Given the description of an element on the screen output the (x, y) to click on. 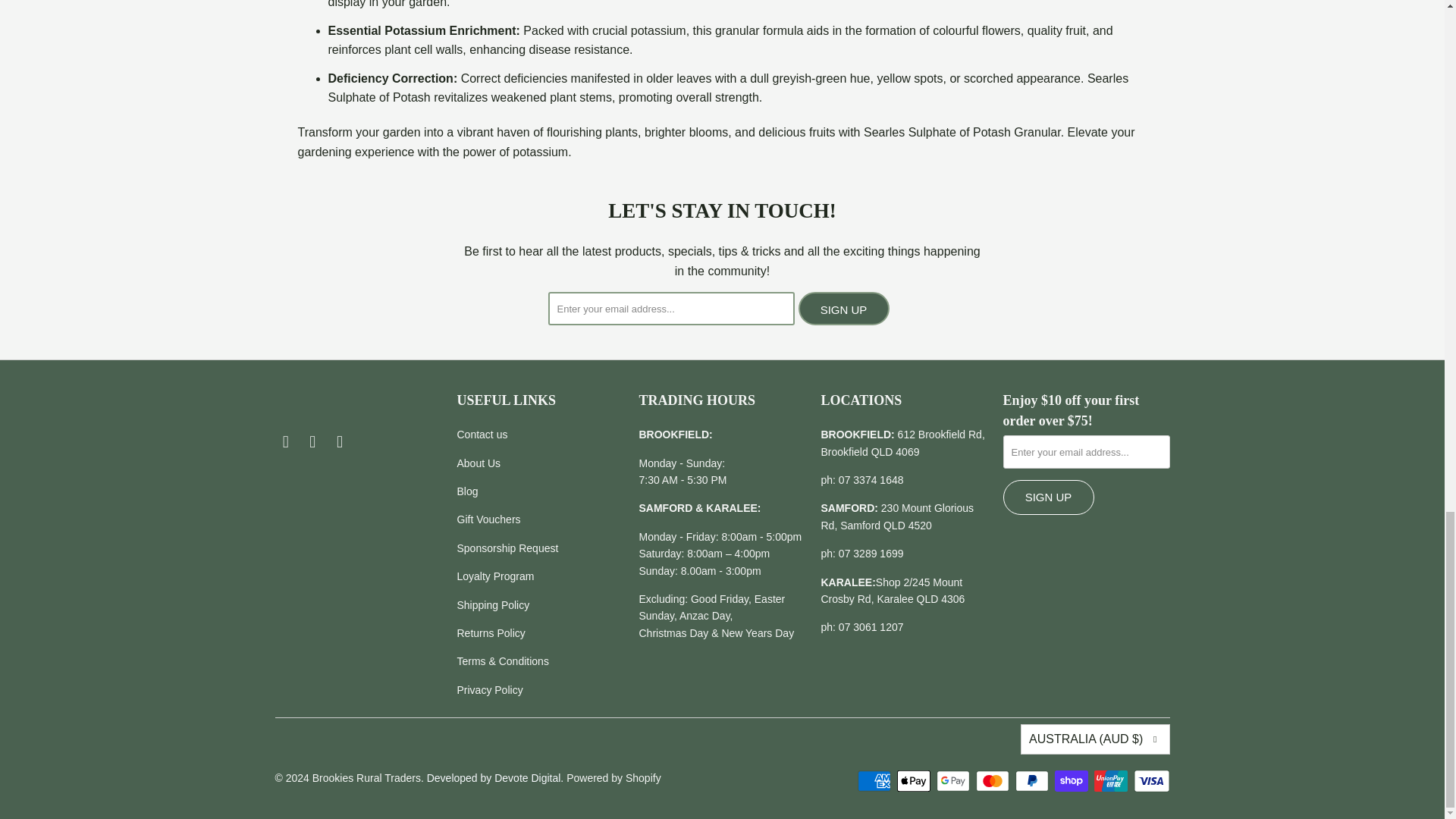
Union Pay (1112, 780)
American Express (875, 780)
Apple Pay (914, 780)
Brookies Rural Traders on Facebook (286, 442)
Brookies Rural Traders on Instagram (312, 442)
Brookies Rural Traders on YouTube (340, 442)
Sign Up (842, 308)
Google Pay (954, 780)
Mastercard (993, 780)
Shop Pay (1072, 780)
